Given the description of an element on the screen output the (x, y) to click on. 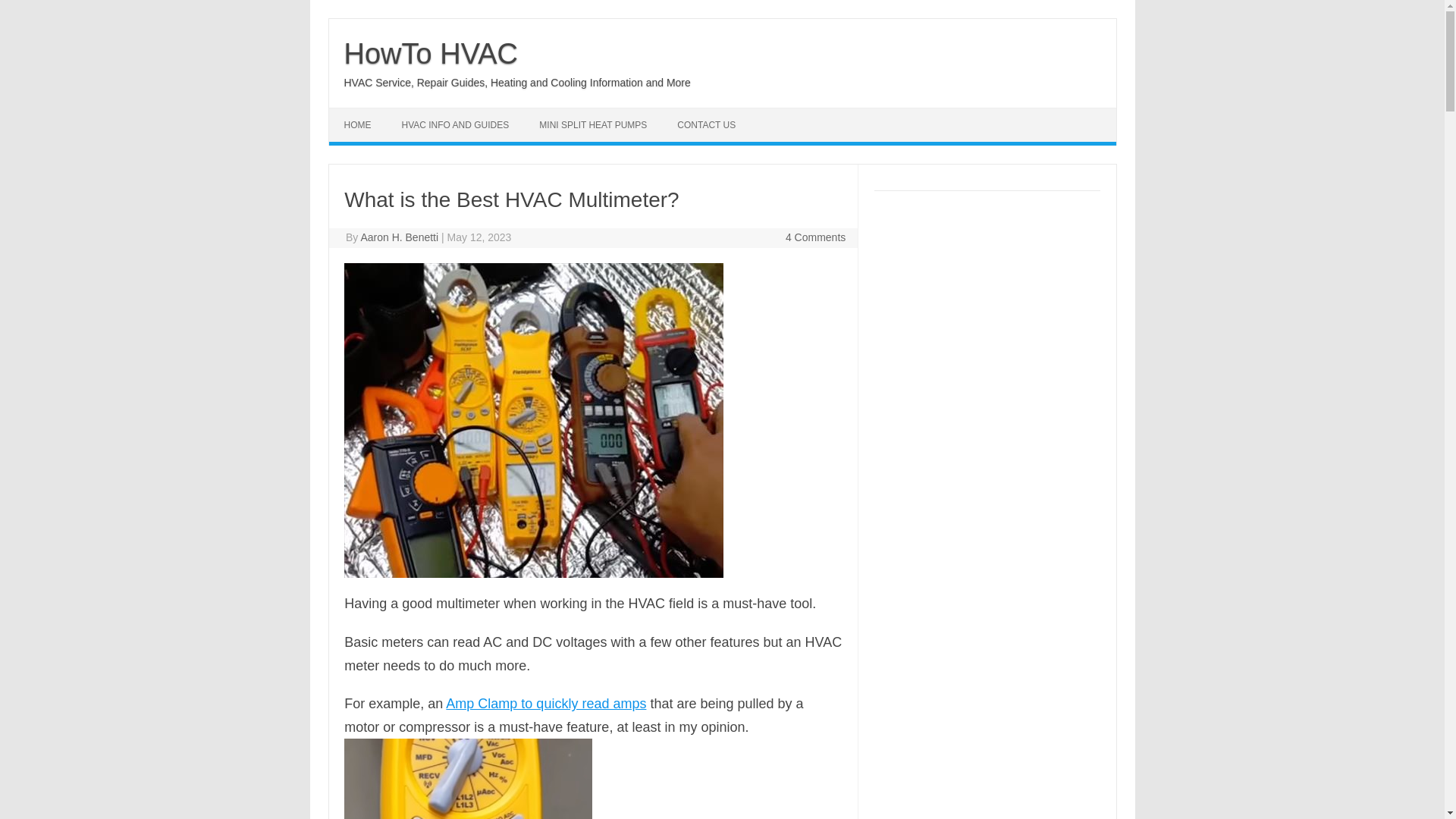
HVAC INFO AND GUIDES (455, 124)
Aaron H. Benetti (398, 236)
HowTo HVAC (430, 53)
HowTo HVAC  (430, 53)
MINI SPLIT HEAT PUMPS (593, 124)
CONTACT US (706, 124)
Amp Clamp to quickly read amps (545, 703)
